Given the description of an element on the screen output the (x, y) to click on. 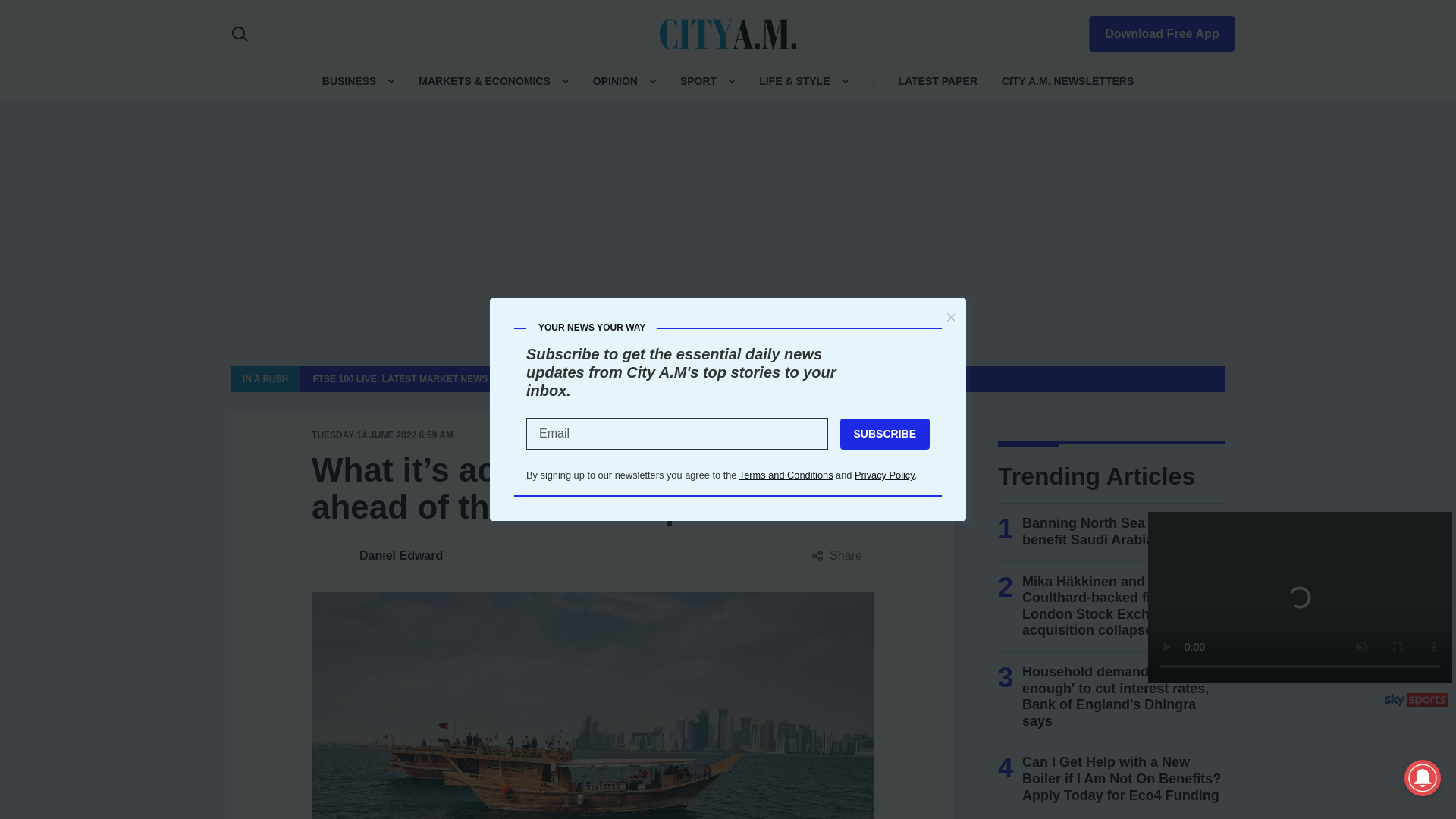
Download Free App (1152, 30)
BUSINESS (349, 80)
CityAM (727, 33)
